Given the description of an element on the screen output the (x, y) to click on. 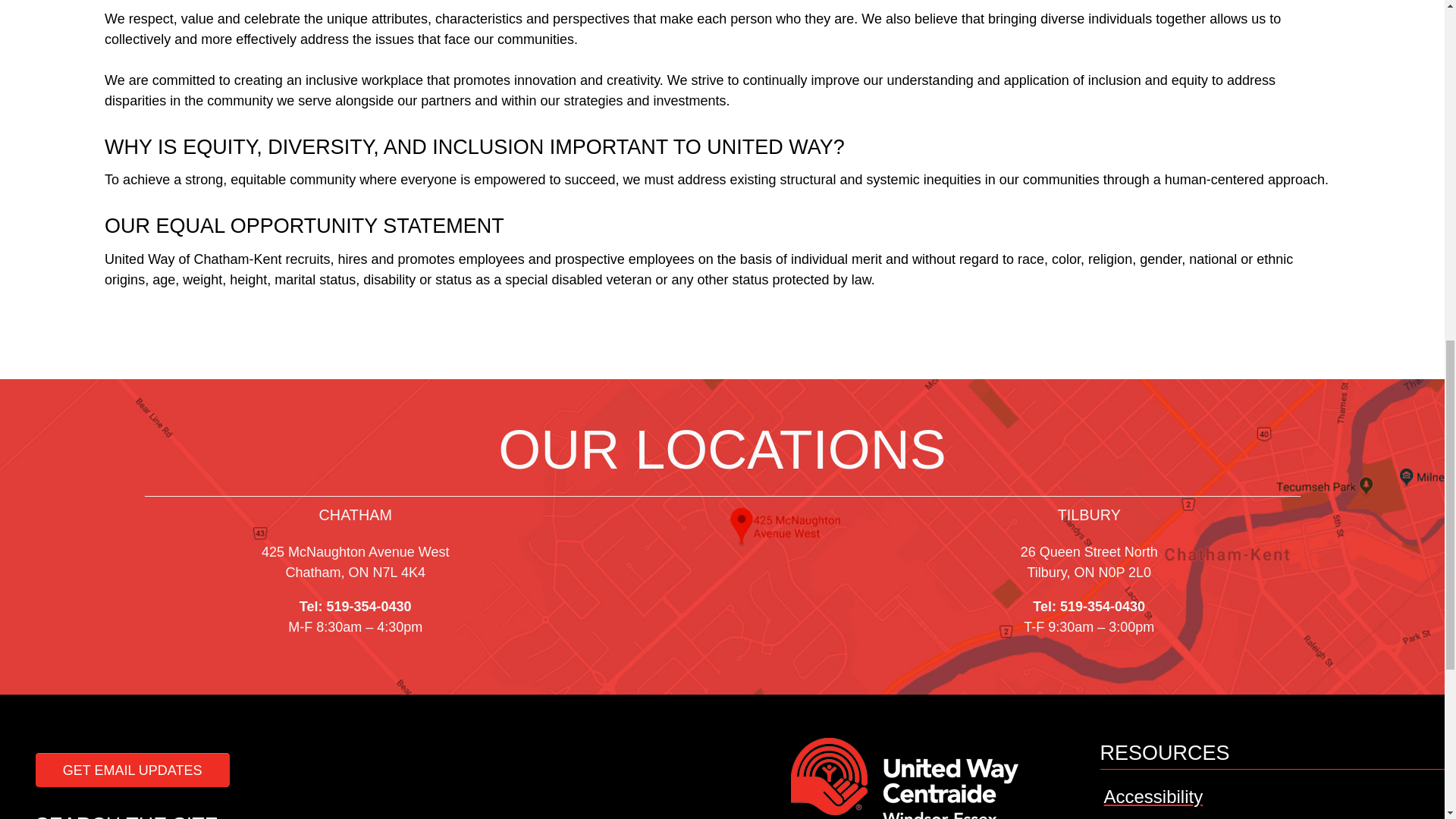
Accessibility (1153, 796)
GET EMAIL UPDATES (132, 769)
